Given the description of an element on the screen output the (x, y) to click on. 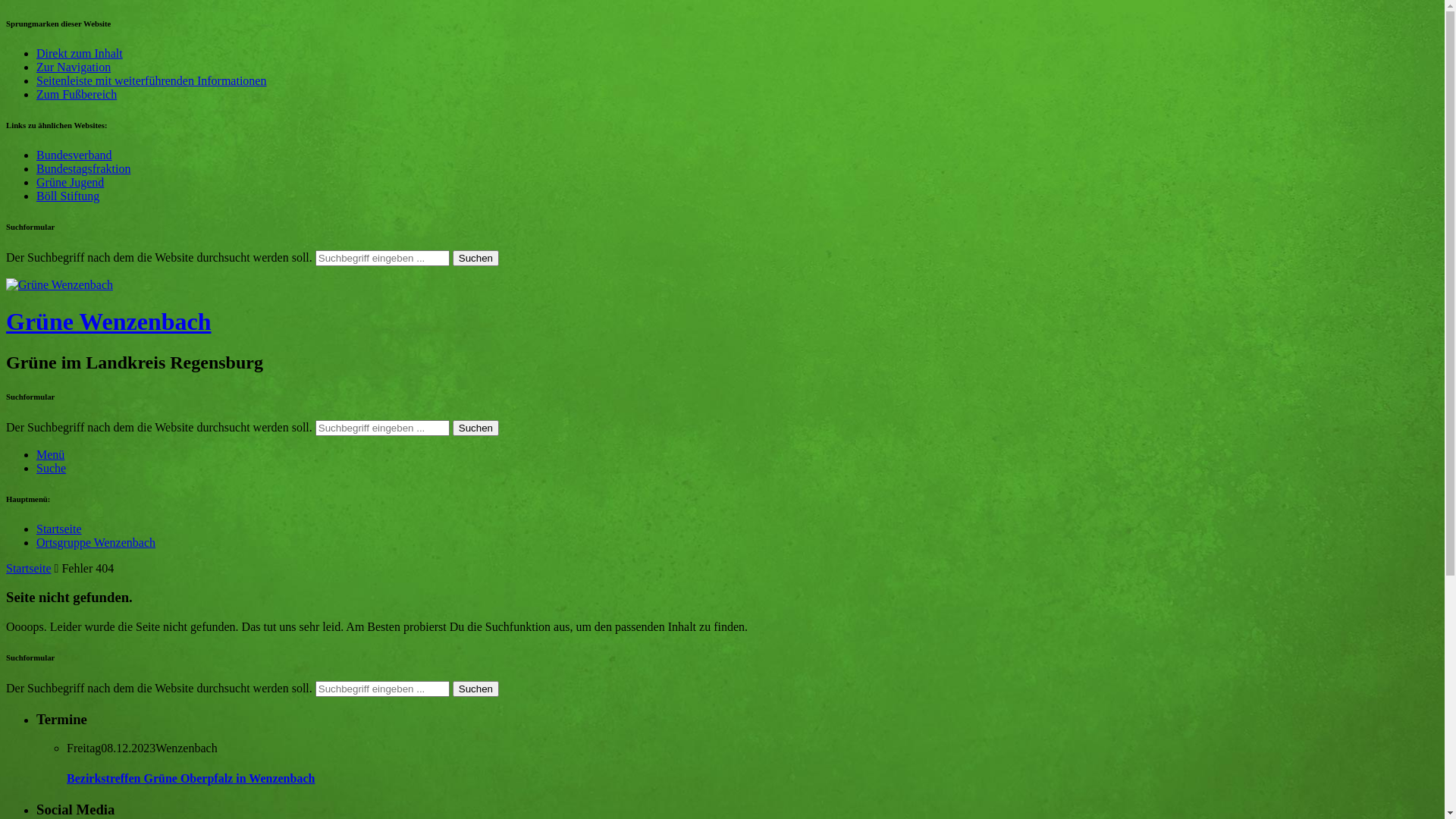
Suchen Element type: text (475, 258)
Suchen Element type: text (475, 428)
Bundestagsfraktion Element type: text (83, 168)
Ortsgruppe Wenzenbach Element type: text (95, 542)
Bundesverband Element type: text (74, 154)
Zur Navigation Element type: text (73, 66)
Startseite Element type: text (28, 567)
Zur Startseite Element type: hover (59, 284)
Direkt zum Inhalt Element type: text (79, 53)
Suchen Element type: text (475, 688)
Suche Element type: text (50, 467)
Startseite Element type: text (58, 528)
